Given the description of an element on the screen output the (x, y) to click on. 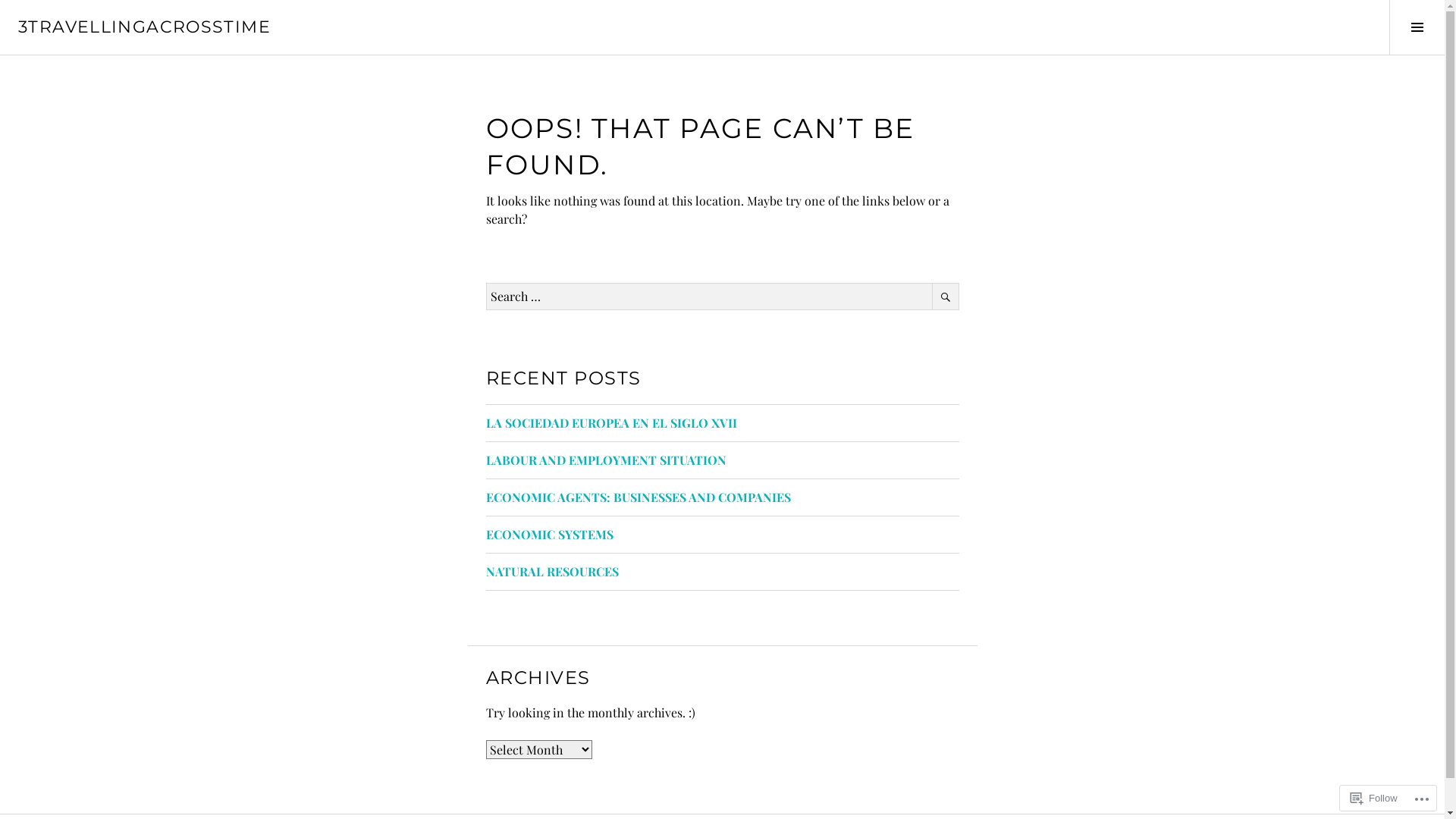
3TRAVELLINGACROSSTIME Element type: text (144, 26)
ECONOMIC SYSTEMS Element type: text (548, 534)
NATURAL RESOURCES Element type: text (551, 571)
Search Element type: text (944, 296)
LA SOCIEDAD EUROPEA EN EL SIGLO XVII Element type: text (610, 422)
ECONOMIC AGENTS: BUSINESSES AND COMPANIES Element type: text (637, 497)
LABOUR AND EMPLOYMENT SITUATION Element type: text (605, 459)
Follow Element type: text (1373, 797)
